Given the description of an element on the screen output the (x, y) to click on. 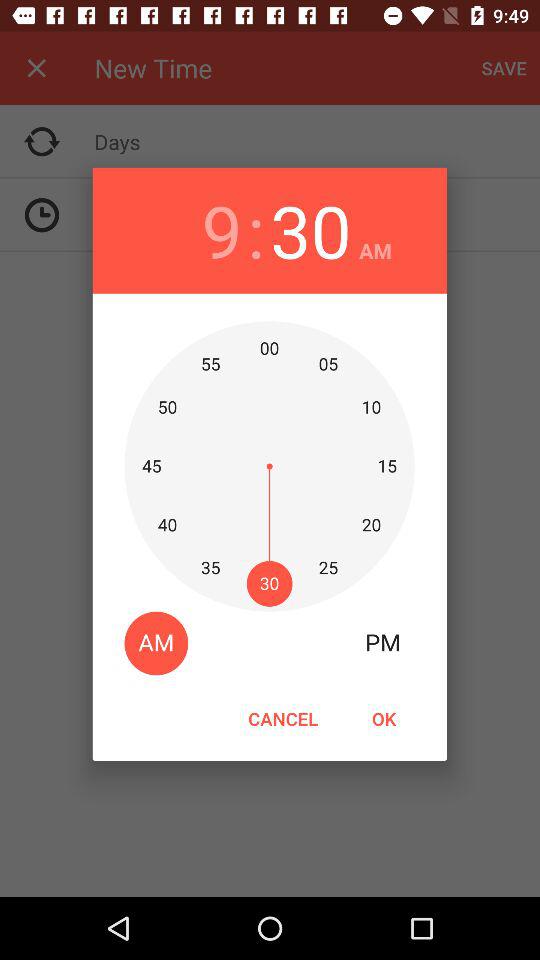
turn on the cancel item (283, 718)
